Given the description of an element on the screen output the (x, y) to click on. 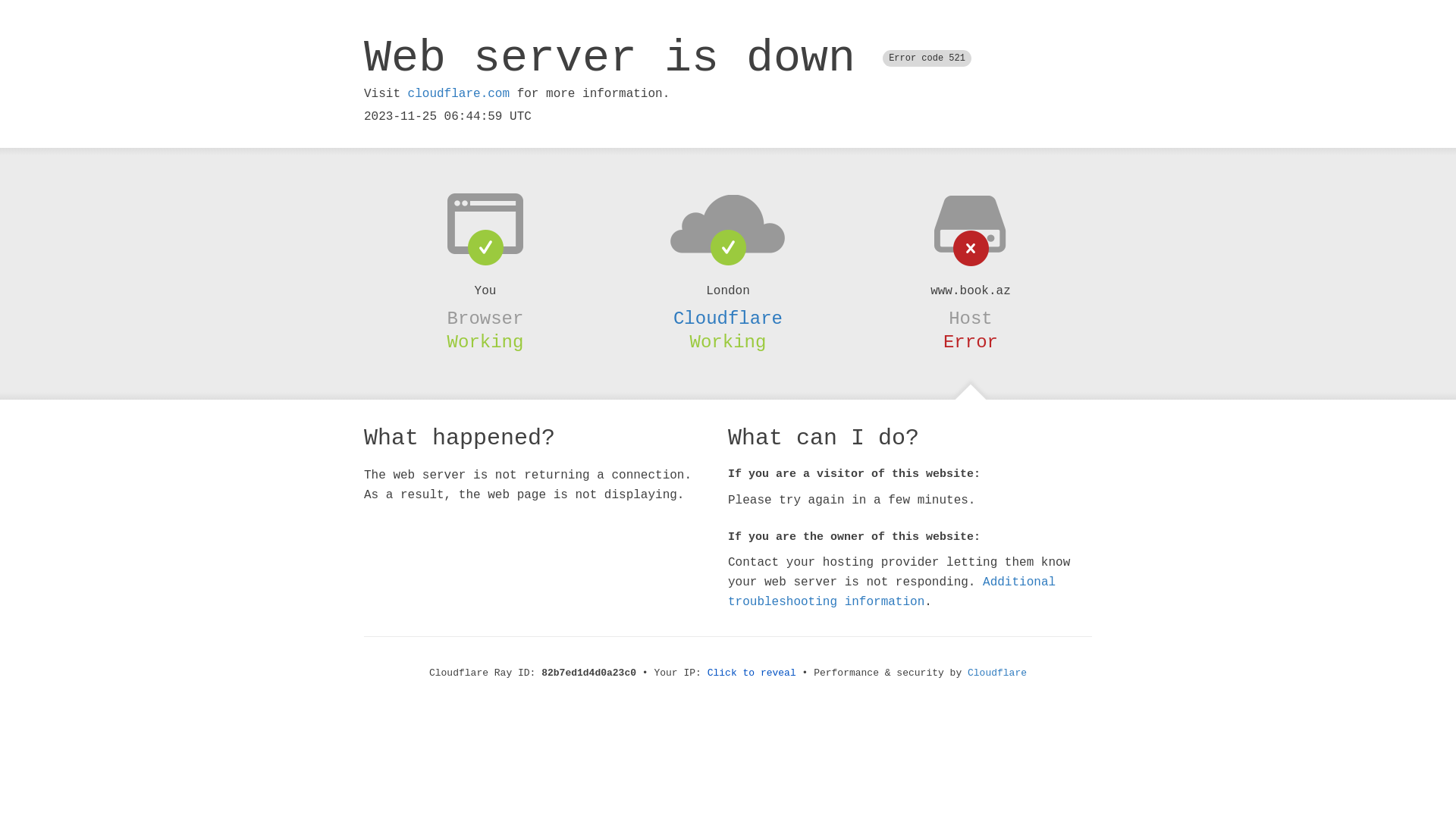
Cloudflare Element type: text (996, 672)
cloudflare.com Element type: text (458, 93)
Click to reveal Element type: text (751, 672)
Additional troubleshooting information Element type: text (891, 591)
Cloudflare Element type: text (727, 318)
